Given the description of an element on the screen output the (x, y) to click on. 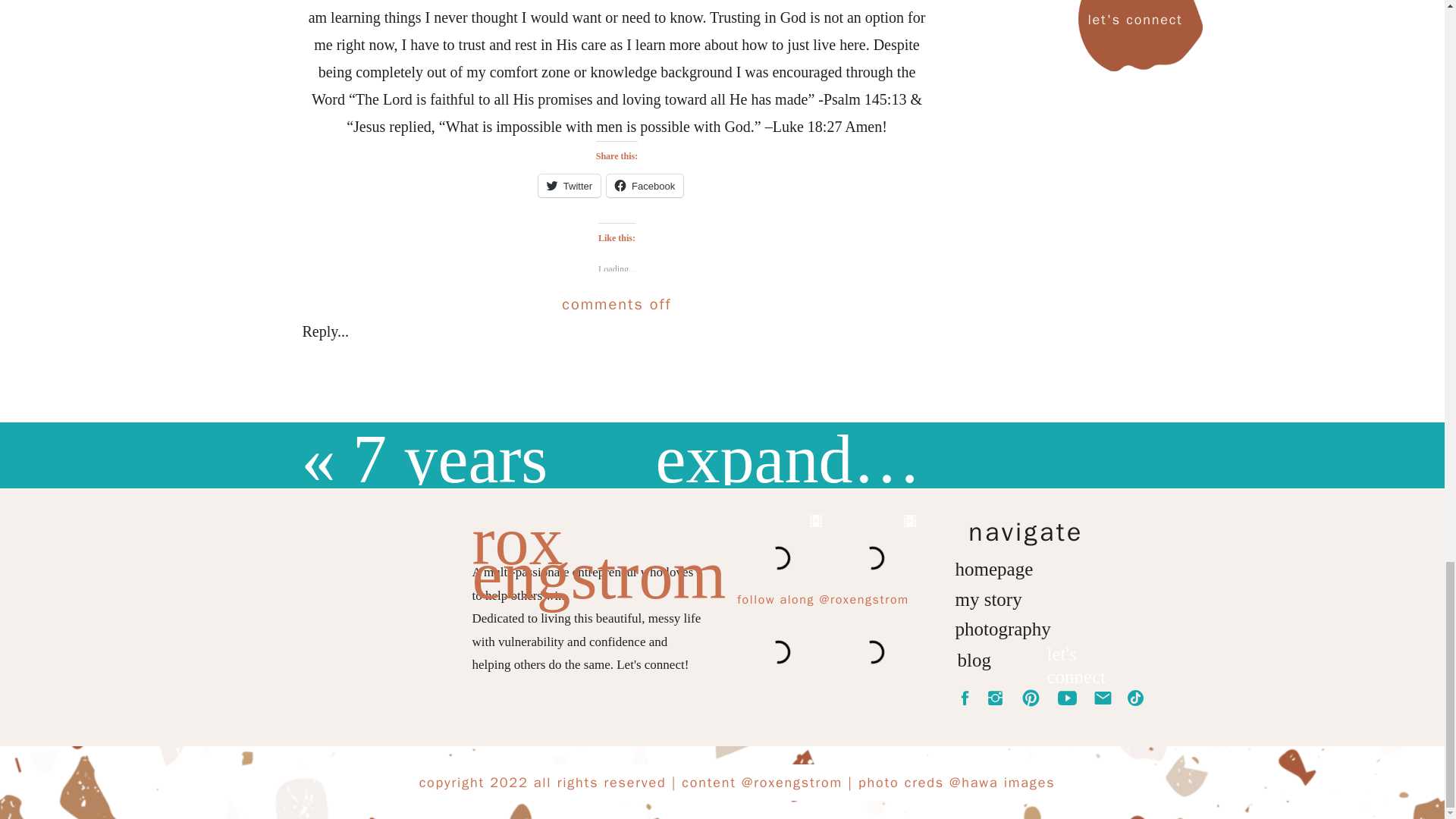
Twitter (568, 185)
Click to share on Twitter (568, 185)
expanding or exploding (979, 458)
Facebook (644, 185)
7 years (449, 458)
Click to share on Facebook (644, 185)
